Given the description of an element on the screen output the (x, y) to click on. 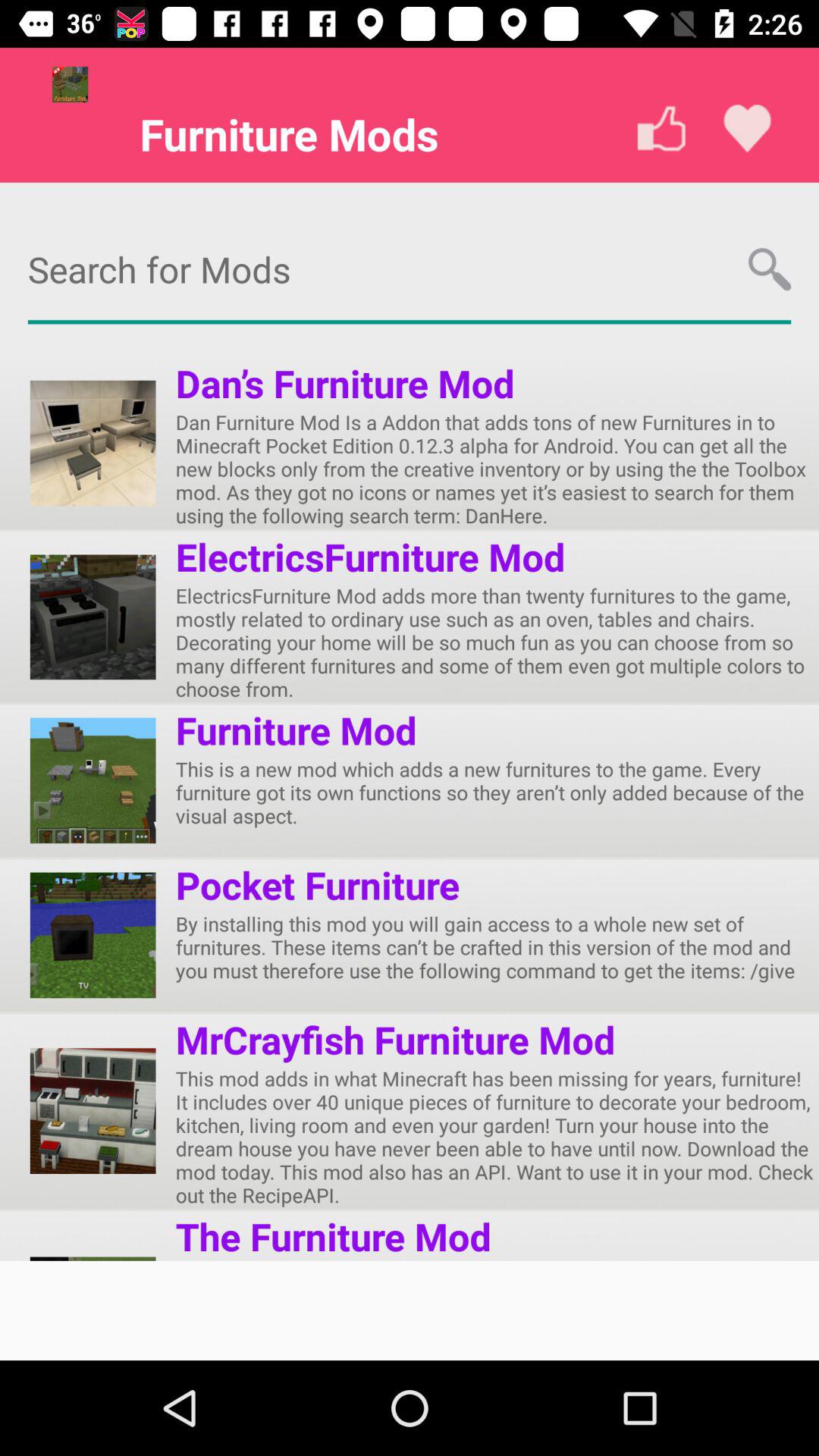
click the item below the by installing this item (395, 1039)
